Given the description of an element on the screen output the (x, y) to click on. 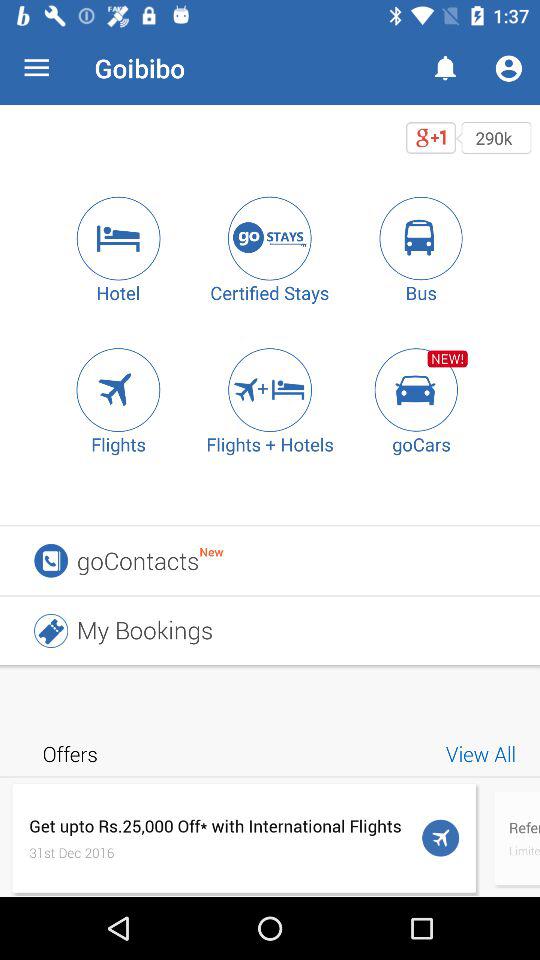
swipe until view all item (483, 753)
